Given the description of an element on the screen output the (x, y) to click on. 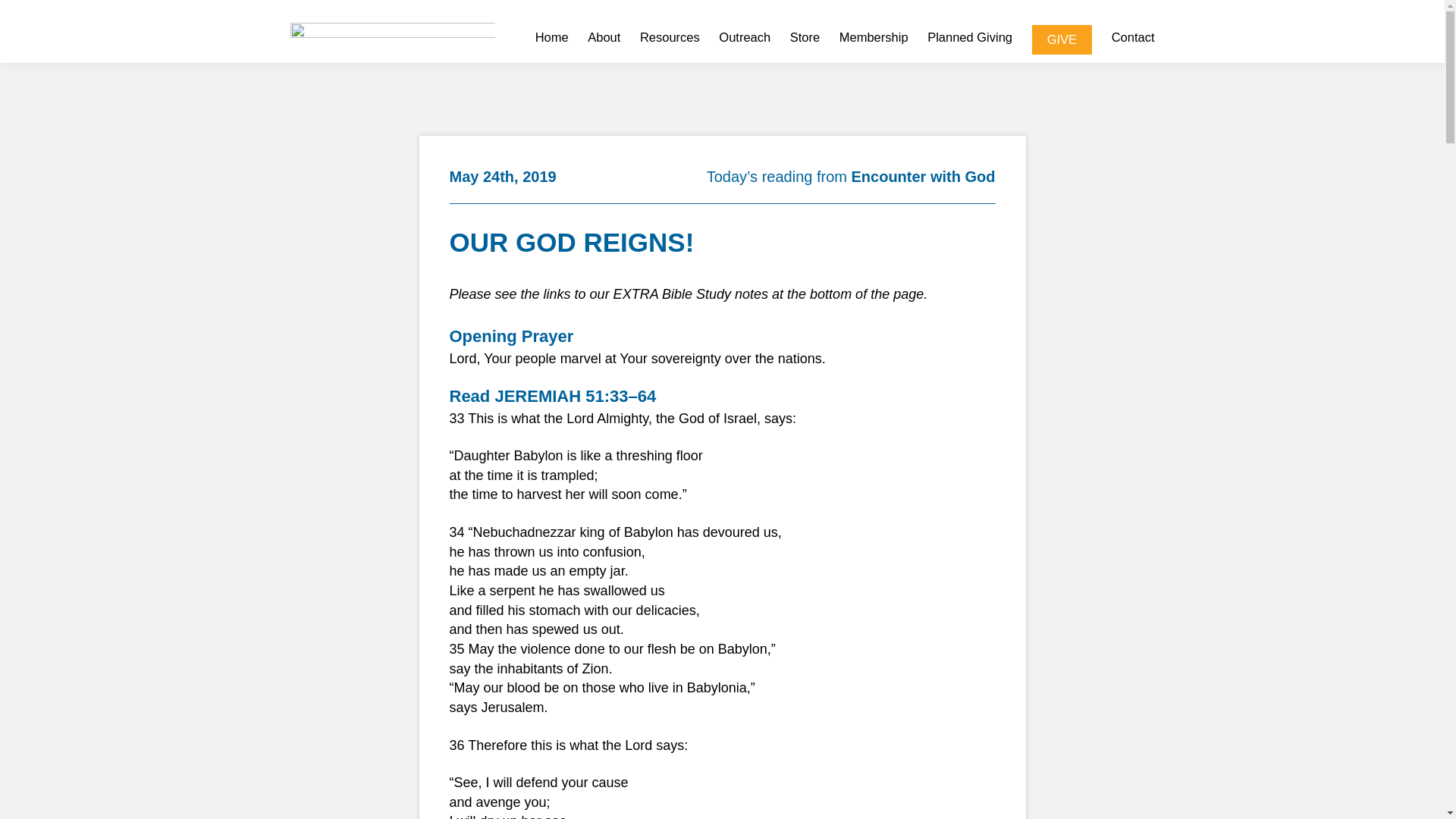
Store (804, 39)
Contact (1133, 39)
Planned Giving (969, 39)
Outreach (744, 39)
Membership (874, 39)
GIVE (1062, 39)
About (604, 39)
Resources (670, 39)
Home (552, 39)
